Given the description of an element on the screen output the (x, y) to click on. 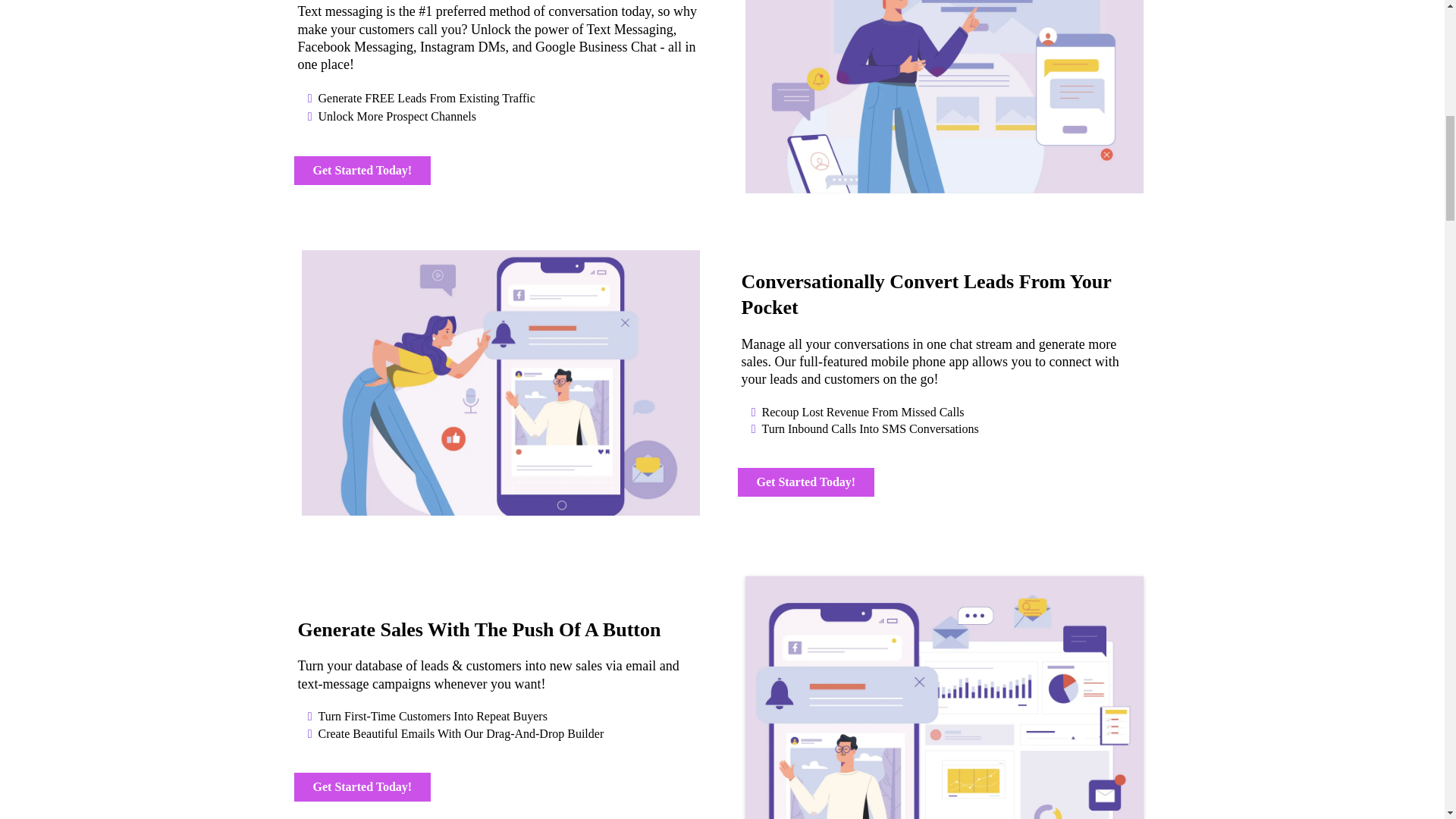
Get Started Today! (362, 787)
Get Started Today! (362, 170)
Get Started Today! (805, 481)
